Given the description of an element on the screen output the (x, y) to click on. 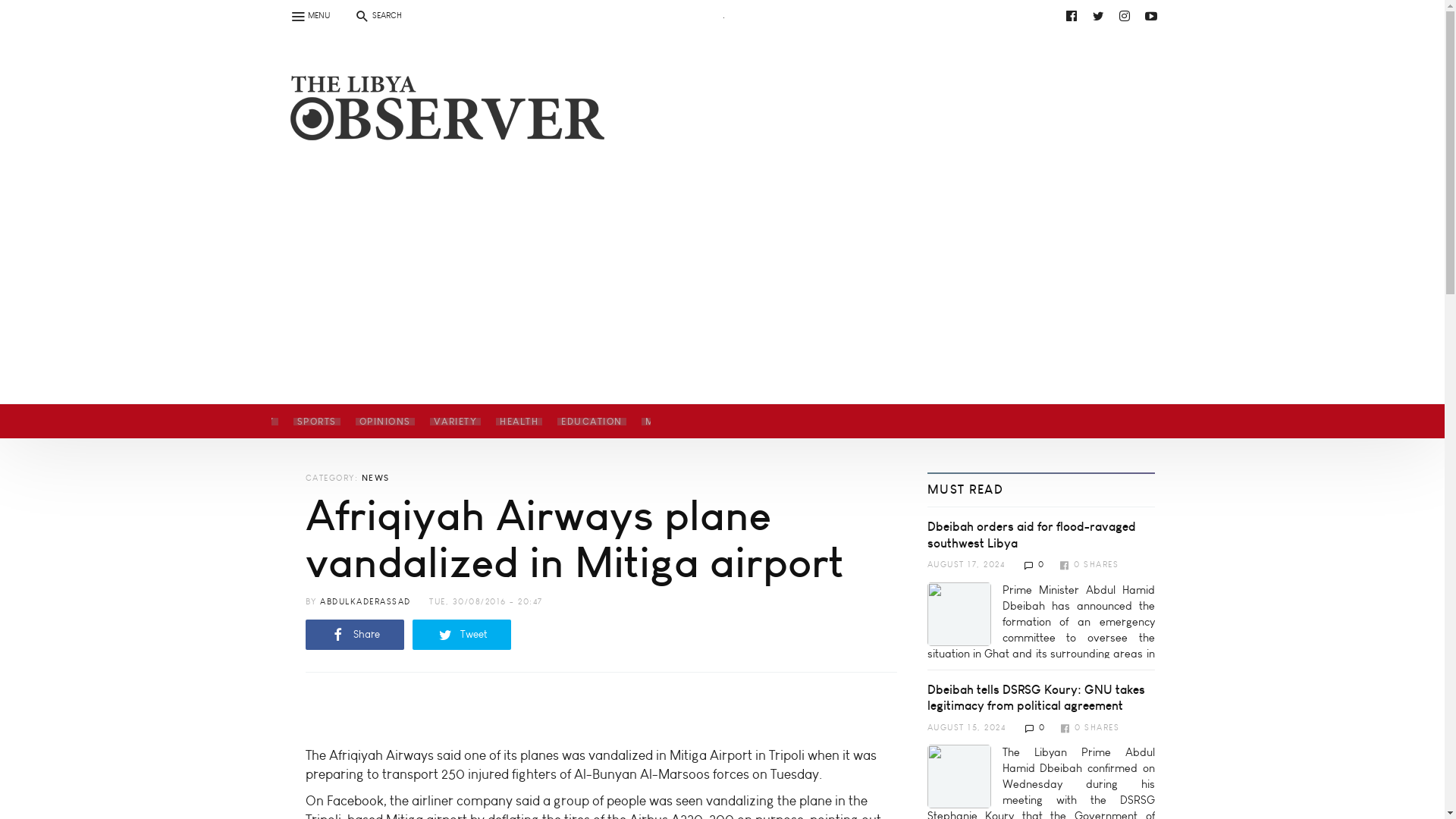
youtube (449, 52)
OPINIONS (384, 421)
SEARCH (377, 15)
ECONOMY (246, 421)
Home (441, 126)
youtube (736, 14)
Search (20, 9)
MENU (309, 15)
View user profile. (365, 601)
